Given the description of an element on the screen output the (x, y) to click on. 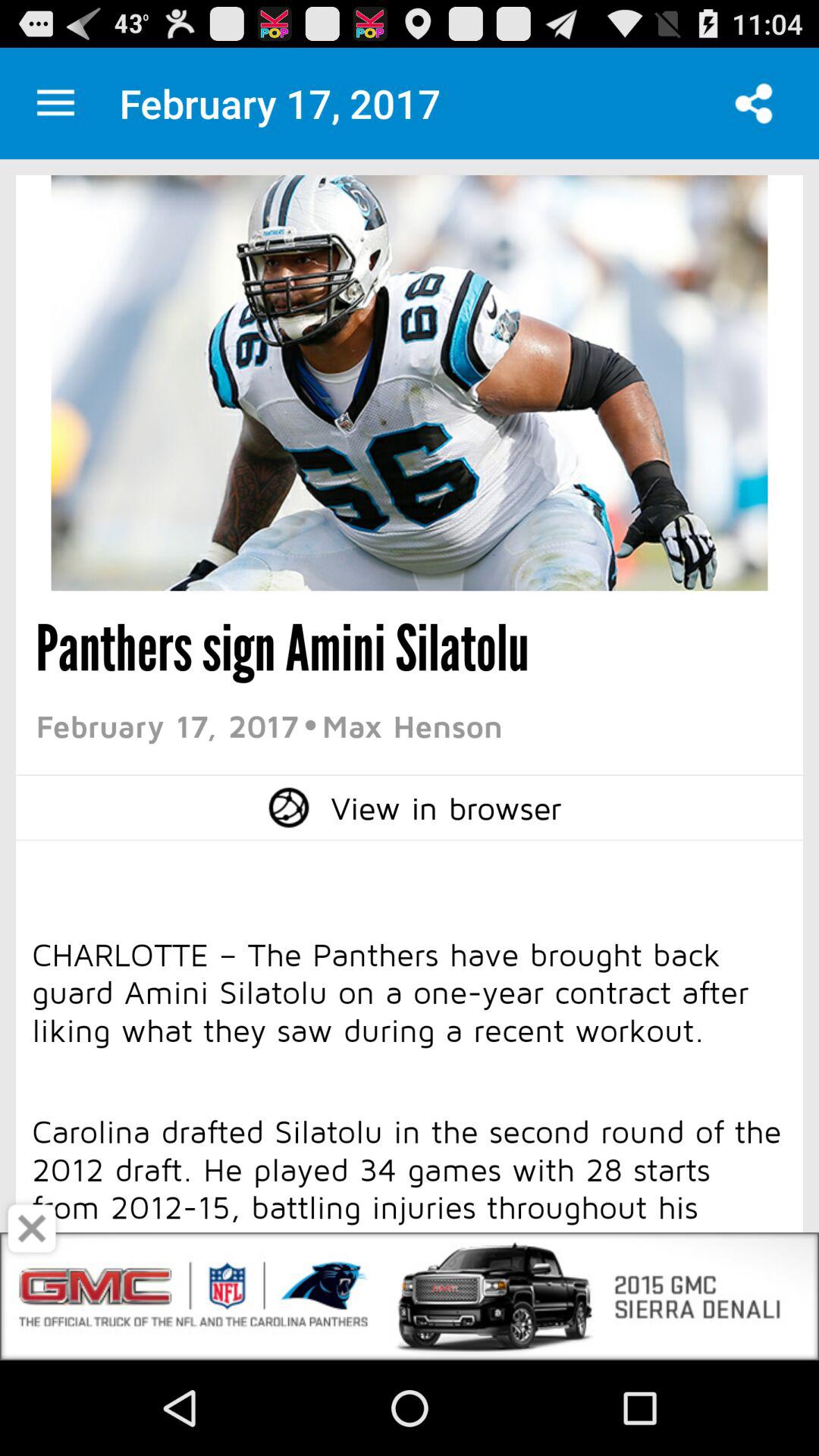
open the advertisement (409, 1296)
